Given the description of an element on the screen output the (x, y) to click on. 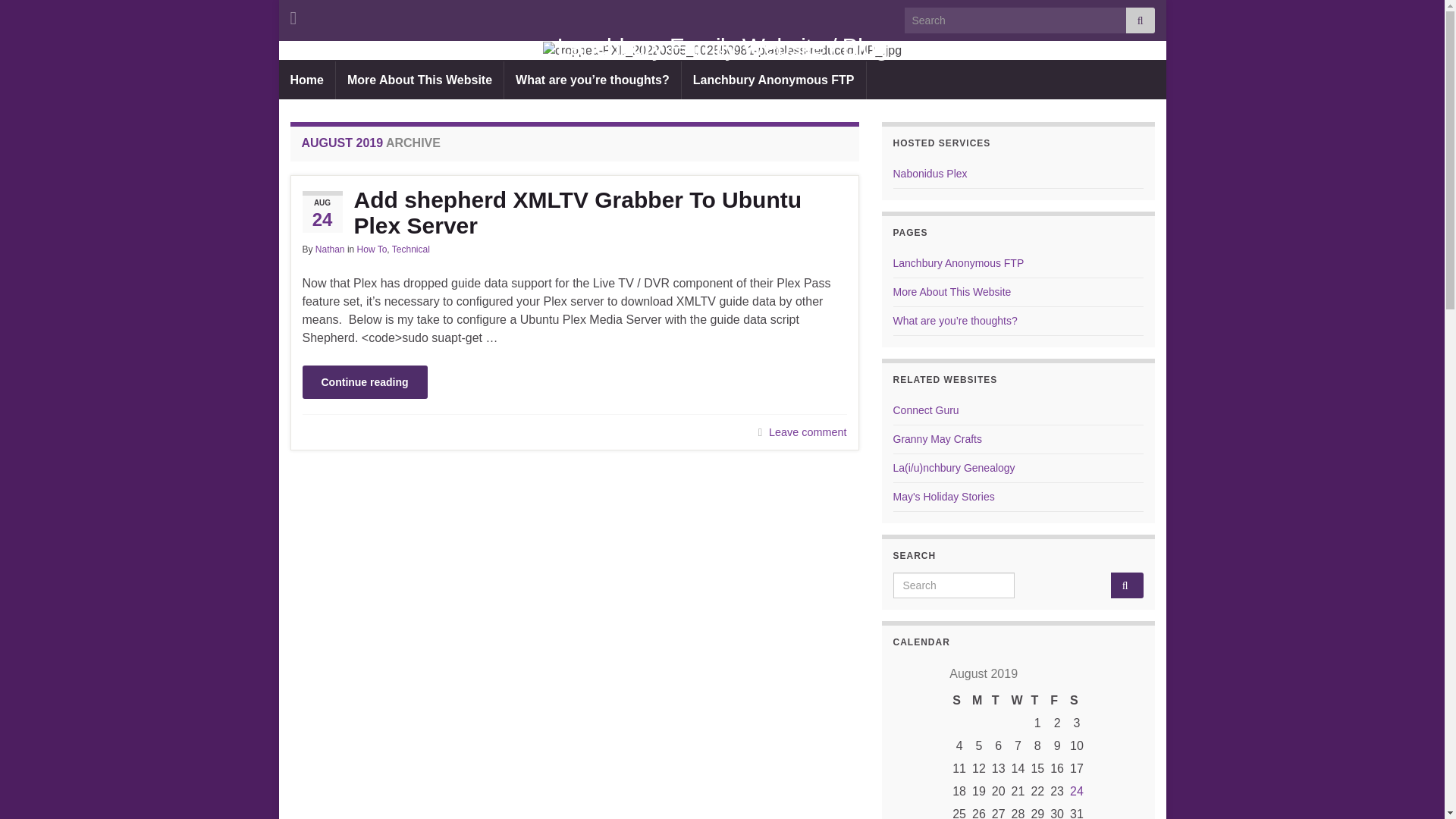
Lanchbury Family Website / Blog Element type: text (721, 46)
La(i/u)nchbury Genealogy Element type: text (954, 467)
Connect Guru Element type: text (926, 410)
24 Element type: text (1076, 790)
Technical Element type: text (410, 249)
More About This Website Element type: text (419, 80)
Leave comment Element type: text (807, 432)
Go back to the front page Element type: hover (722, 49)
cropped-PXL_20220305_002550981-plateless-reduced.MP_.jpg Element type: hover (721, 50)
Nabonidus Plex Element type: text (930, 173)
Nathan Element type: text (330, 249)
May's Holiday Stories Element type: text (943, 496)
Continue reading Element type: text (363, 381)
More About This Website Element type: text (952, 291)
  Element type: text (722, 49)
Lanchbury Anonymous FTP Element type: text (773, 80)
Granny May Crafts Element type: text (937, 439)
Home Element type: text (307, 80)
Subscribe to Lanchbury Family Website / Blog's RSS feed Element type: hover (292, 16)
How To Element type: text (372, 249)
Lanchbury Anonymous FTP Element type: text (958, 263)
Add shepherd XMLTV Grabber To Ubuntu Plex Server Element type: text (573, 212)
